Given the description of an element on the screen output the (x, y) to click on. 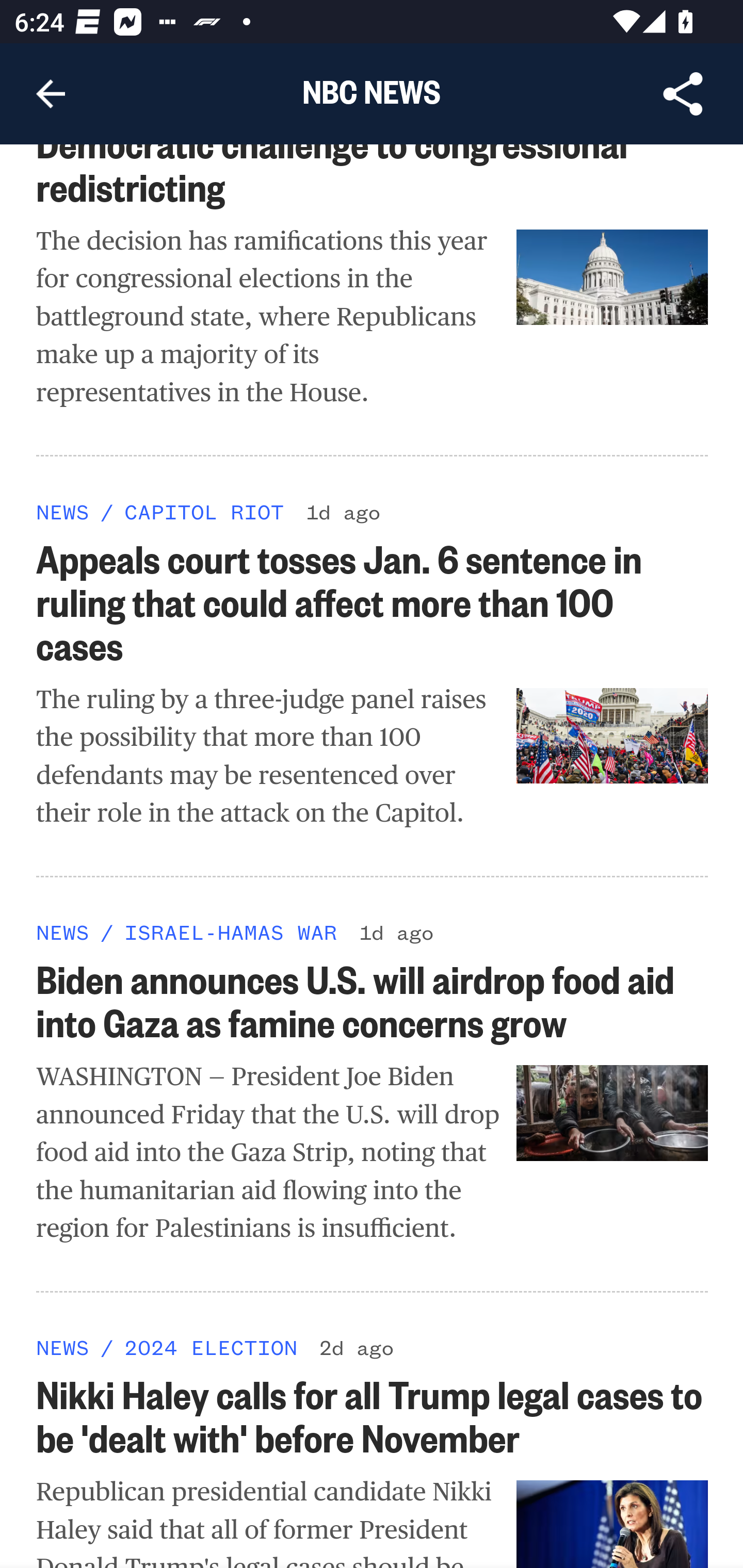
Navigate up (50, 93)
Share Article, button (683, 94)
NEWS NEWS NEWS (63, 510)
CAPITOL RIOT CAPITOL RIOT CAPITOL RIOT (203, 510)
NEWS NEWS NEWS (63, 931)
ISRAEL-HAMAS WAR ISRAEL-HAMAS WAR ISRAEL-HAMAS WAR (229, 931)
NEWS NEWS NEWS (63, 1346)
2024 ELECTION 2024 ELECTION 2024 ELECTION (209, 1346)
